Given the description of an element on the screen output the (x, y) to click on. 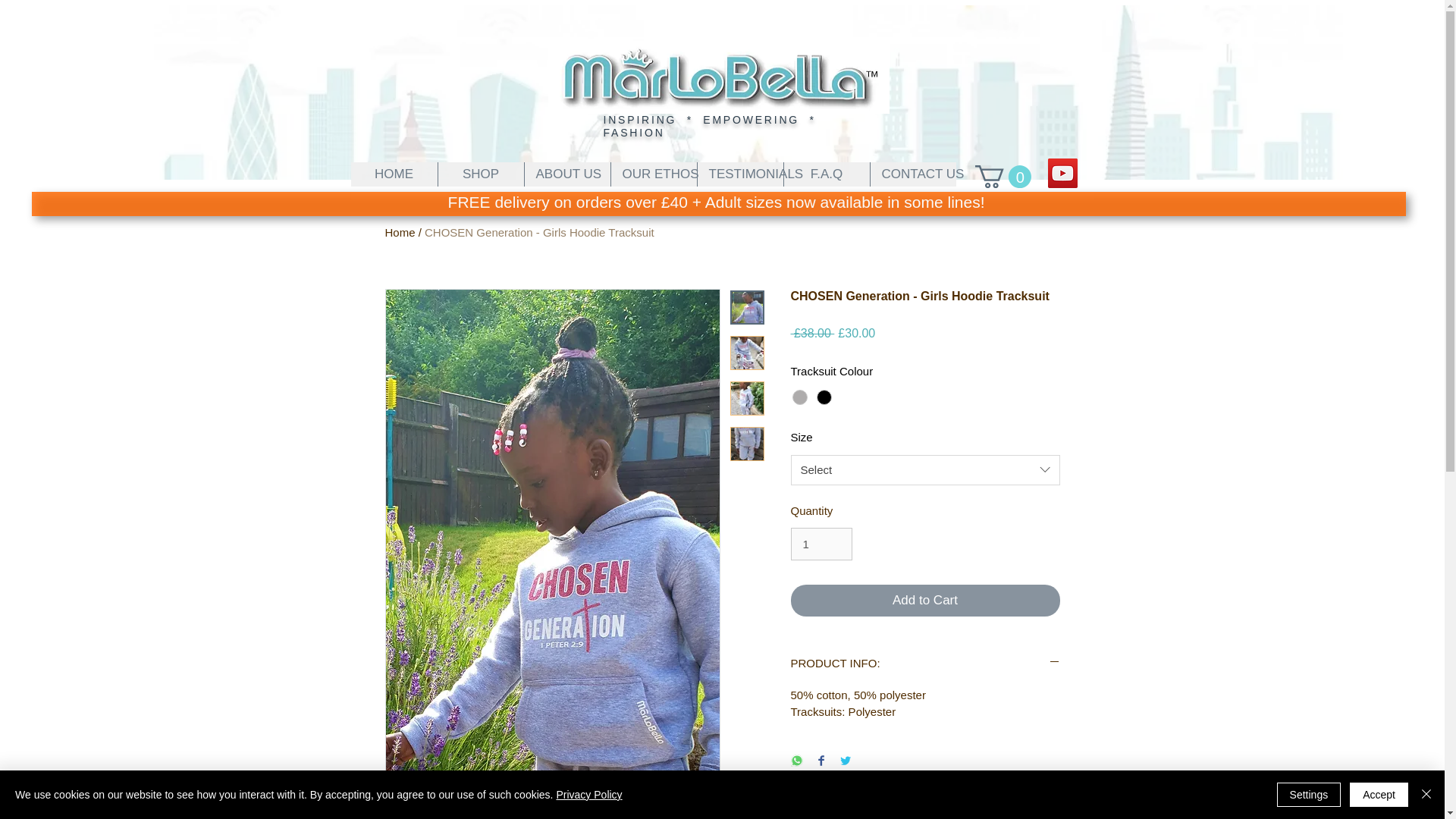
ABOUT US (566, 174)
HOME (393, 174)
TESTIMONIALS (739, 174)
Settings (1308, 794)
OUR ETHOS (652, 174)
Privacy Policy (588, 794)
Select (924, 470)
MarloBella Header link to Home page (717, 76)
CHOSEN Generation - Girls Hoodie Tracksuit (539, 232)
Add to Cart (924, 600)
0 (1002, 176)
SHOP (479, 174)
F.A.Q (826, 174)
Accept (1378, 794)
